Given the description of an element on the screen output the (x, y) to click on. 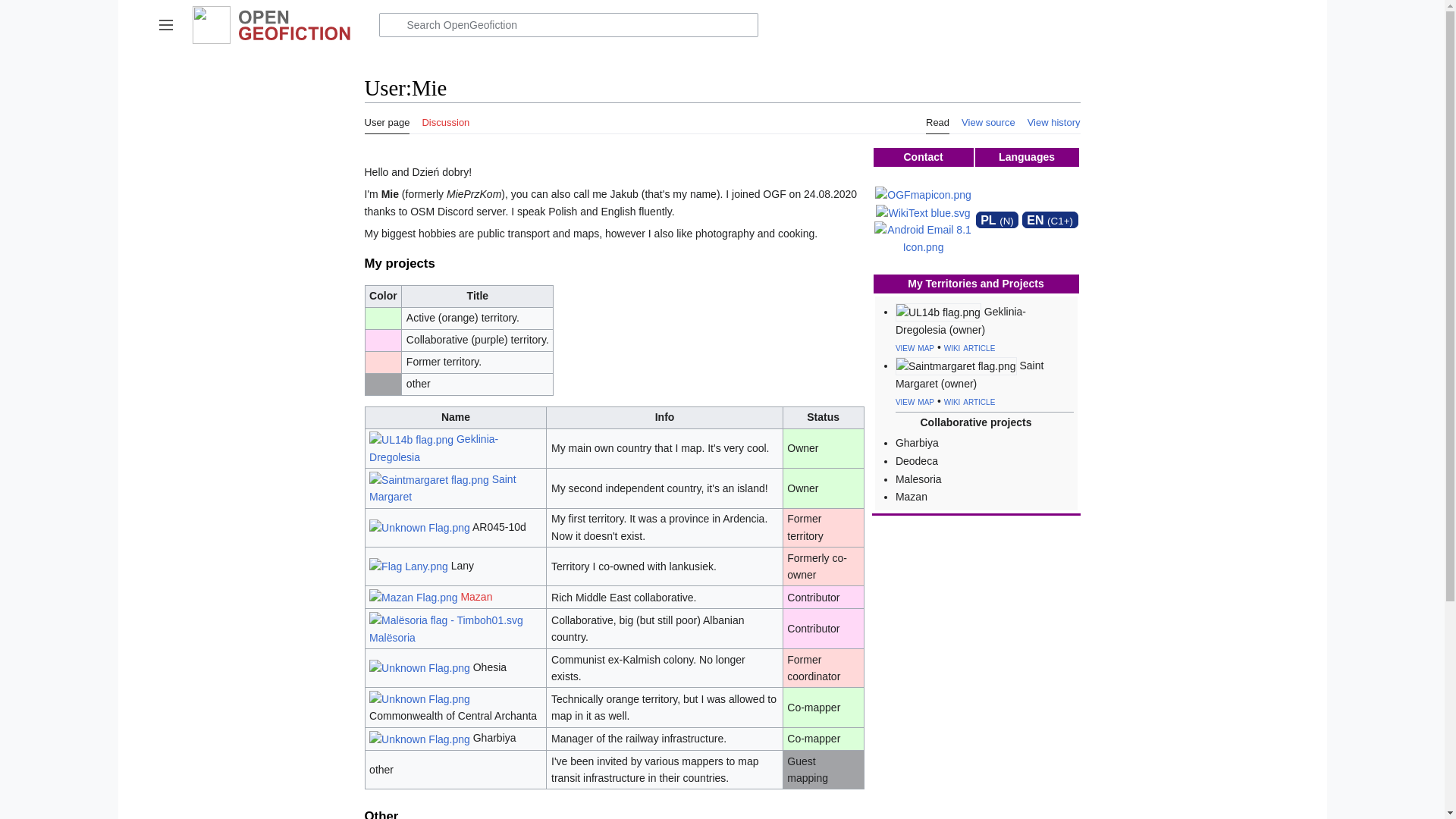
wiki article (969, 399)
Go (392, 24)
Go (392, 24)
Main menu (165, 24)
User page (386, 118)
Search (392, 24)
Search (392, 24)
view map (914, 399)
view map (914, 346)
wiki article (969, 346)
Search the pages for this text (392, 24)
View source (987, 118)
View history (1053, 118)
Search (392, 24)
Discussion (445, 118)
